Given the description of an element on the screen output the (x, y) to click on. 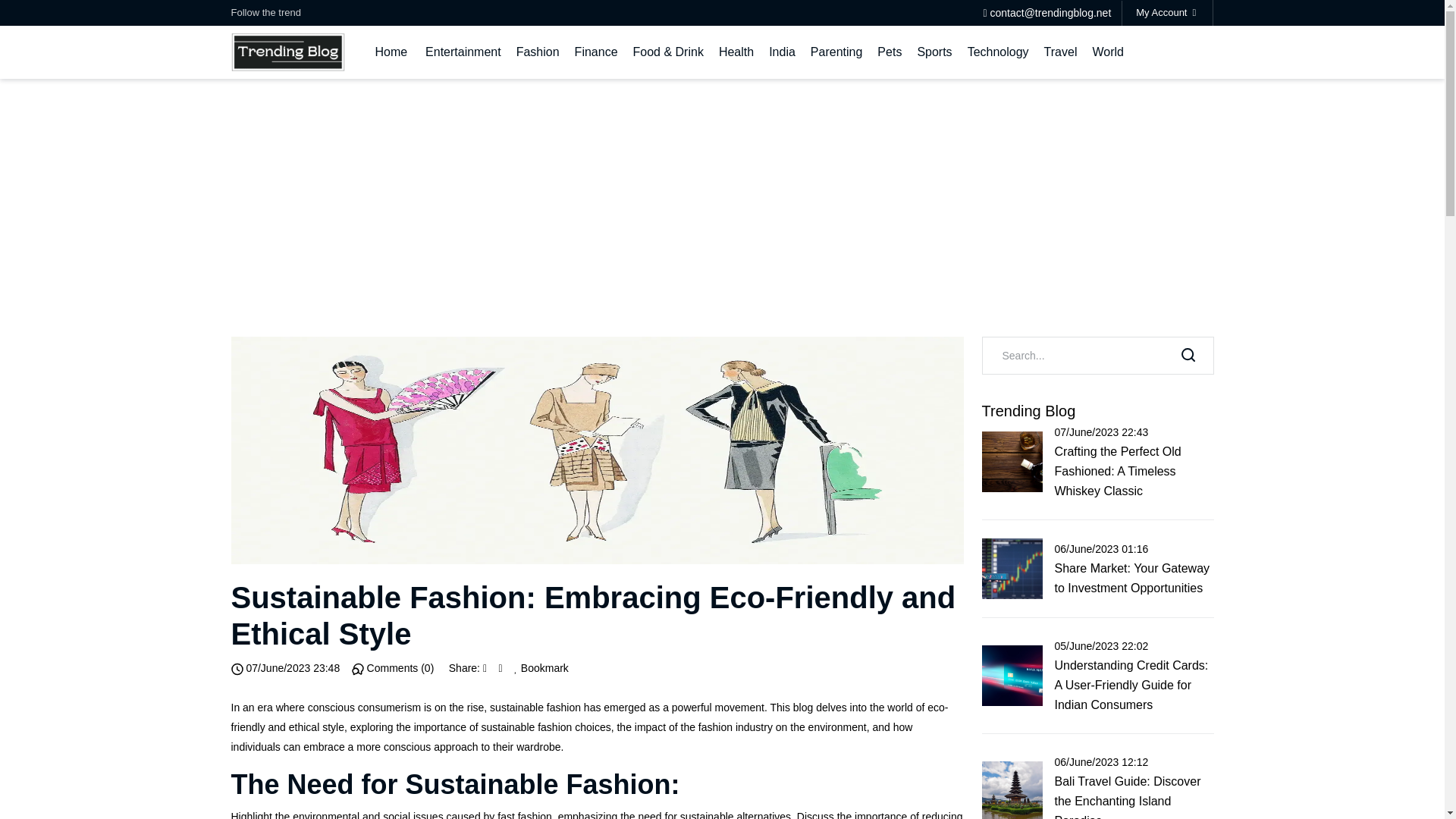
Technology (998, 51)
Entertainment (462, 51)
Parenting (836, 51)
